Given the description of an element on the screen output the (x, y) to click on. 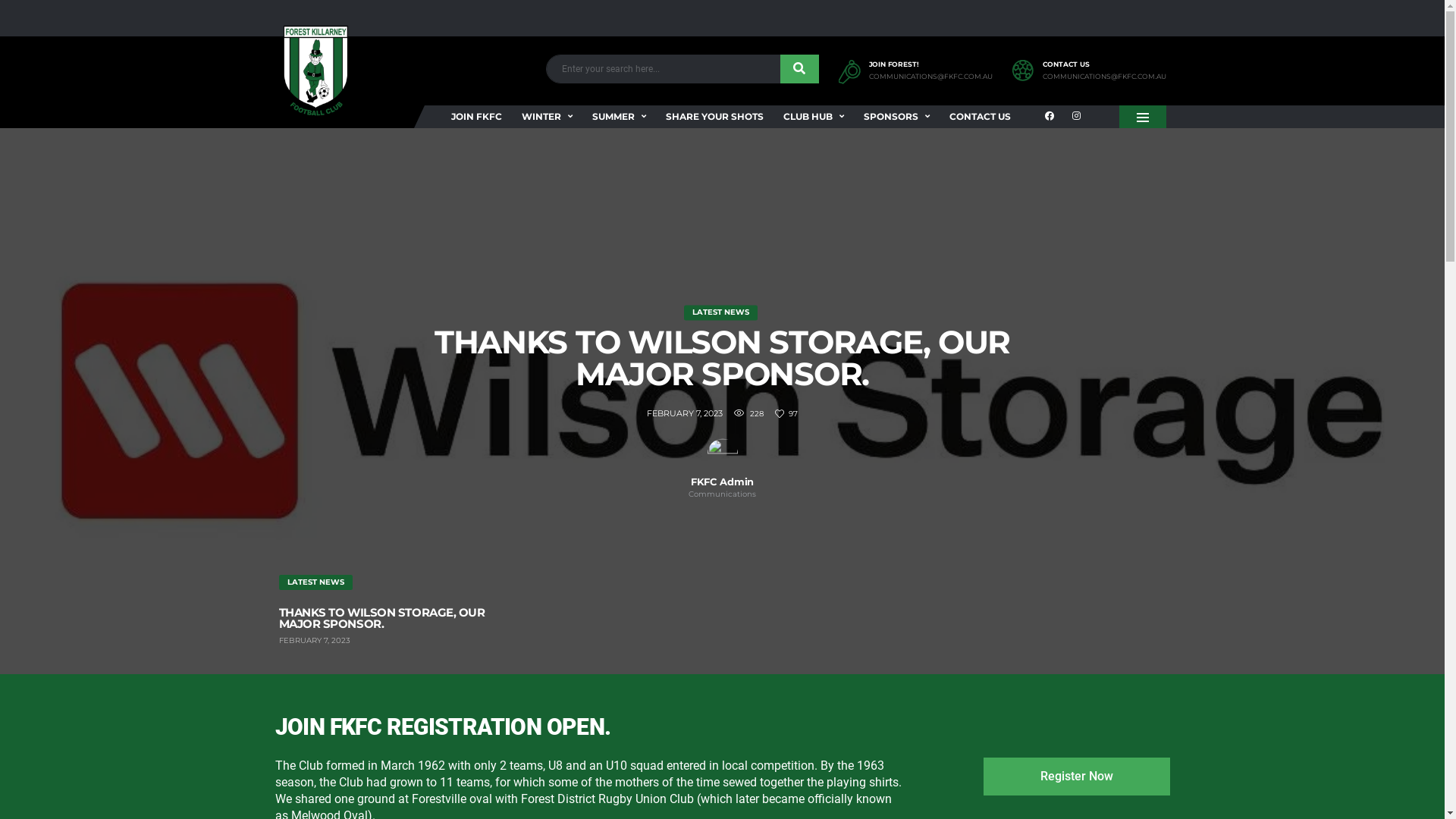
CLUB HUB Element type: text (813, 116)
CONTACT US Element type: text (979, 116)
SPONSORS Element type: text (896, 116)
WINTER Element type: text (546, 116)
COMMUNICATIONS@FKFC.COM.AU Element type: text (1103, 76)
JOIN FKFC Element type: text (476, 116)
SHARE YOUR SHOTS Element type: text (713, 116)
Register Now Element type: text (1075, 776)
97 Element type: text (786, 413)
SUMMER Element type: text (618, 116)
COMMUNICATIONS@FKFC.COM.AU Element type: text (930, 76)
THANKS TO WILSON STORAGE, OUR MAJOR SPONSOR. Element type: text (722, 357)
